Given the description of an element on the screen output the (x, y) to click on. 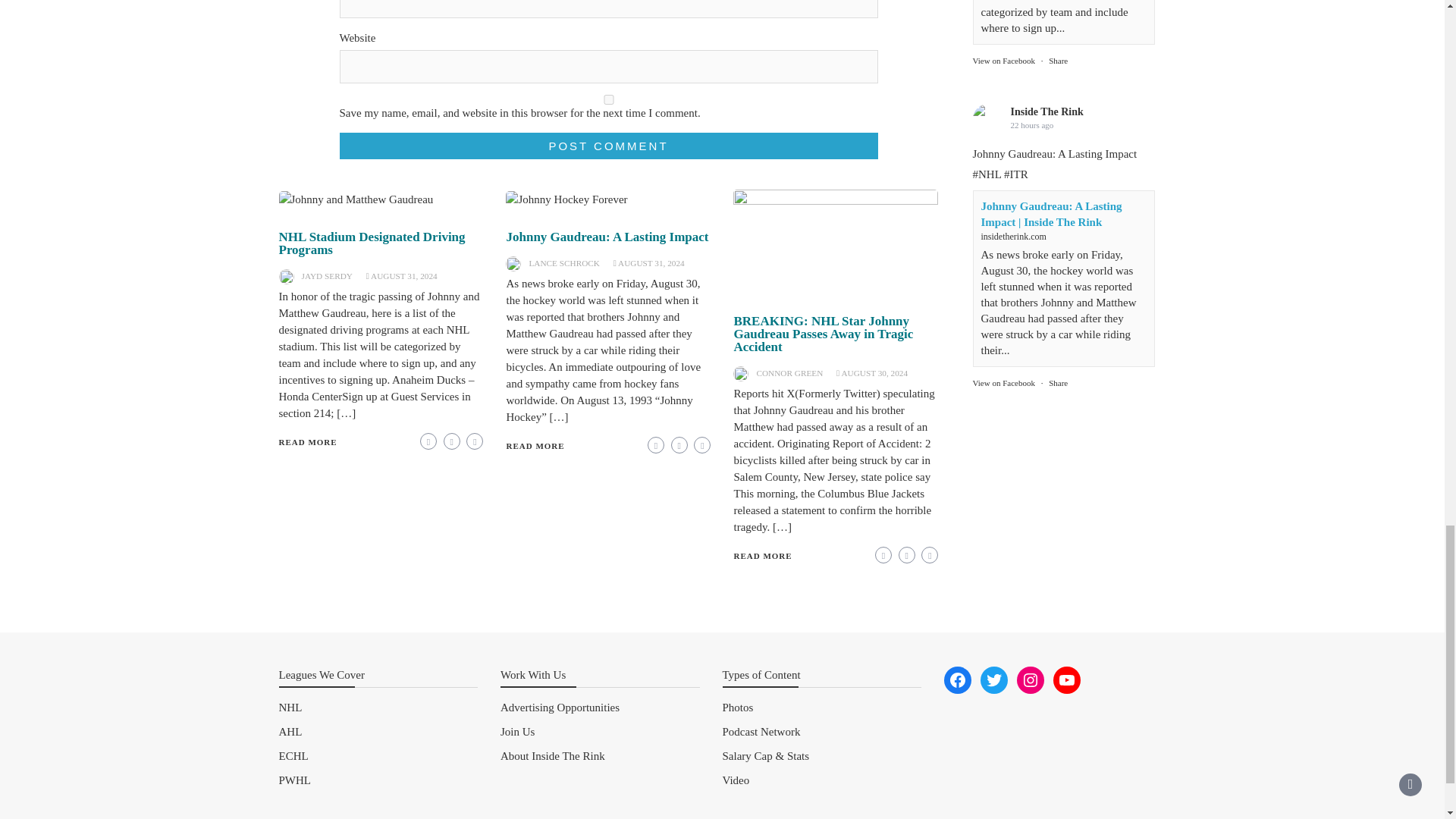
Post Comment (608, 145)
Likebox Iframe (1063, 110)
yes (608, 99)
Share (1057, 11)
View on Facebook (1002, 11)
